Given the description of an element on the screen output the (x, y) to click on. 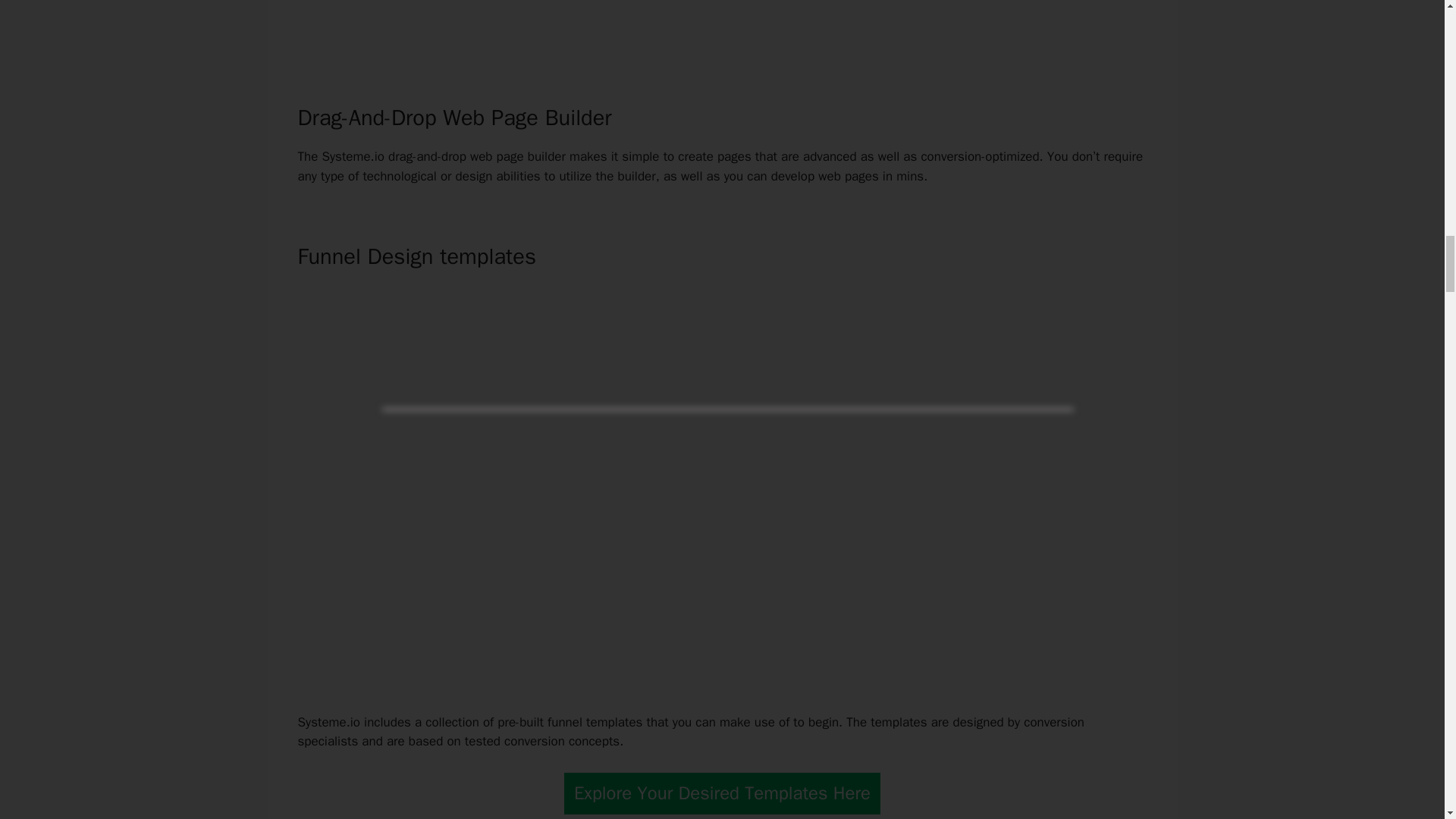
Explore Your Desired Templates Here (722, 793)
